Given the description of an element on the screen output the (x, y) to click on. 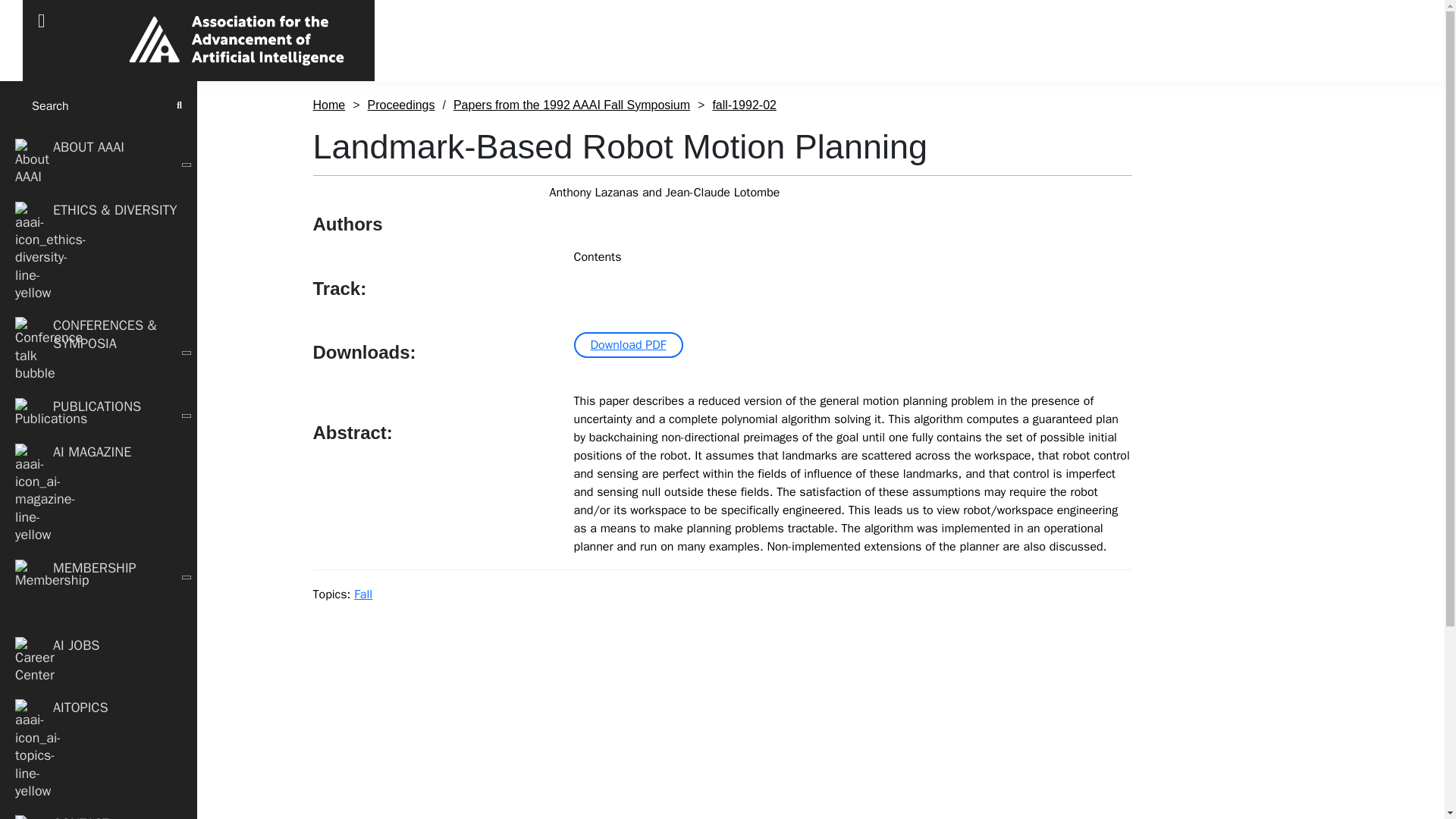
ABOUT AAAI (98, 162)
